Given the description of an element on the screen output the (x, y) to click on. 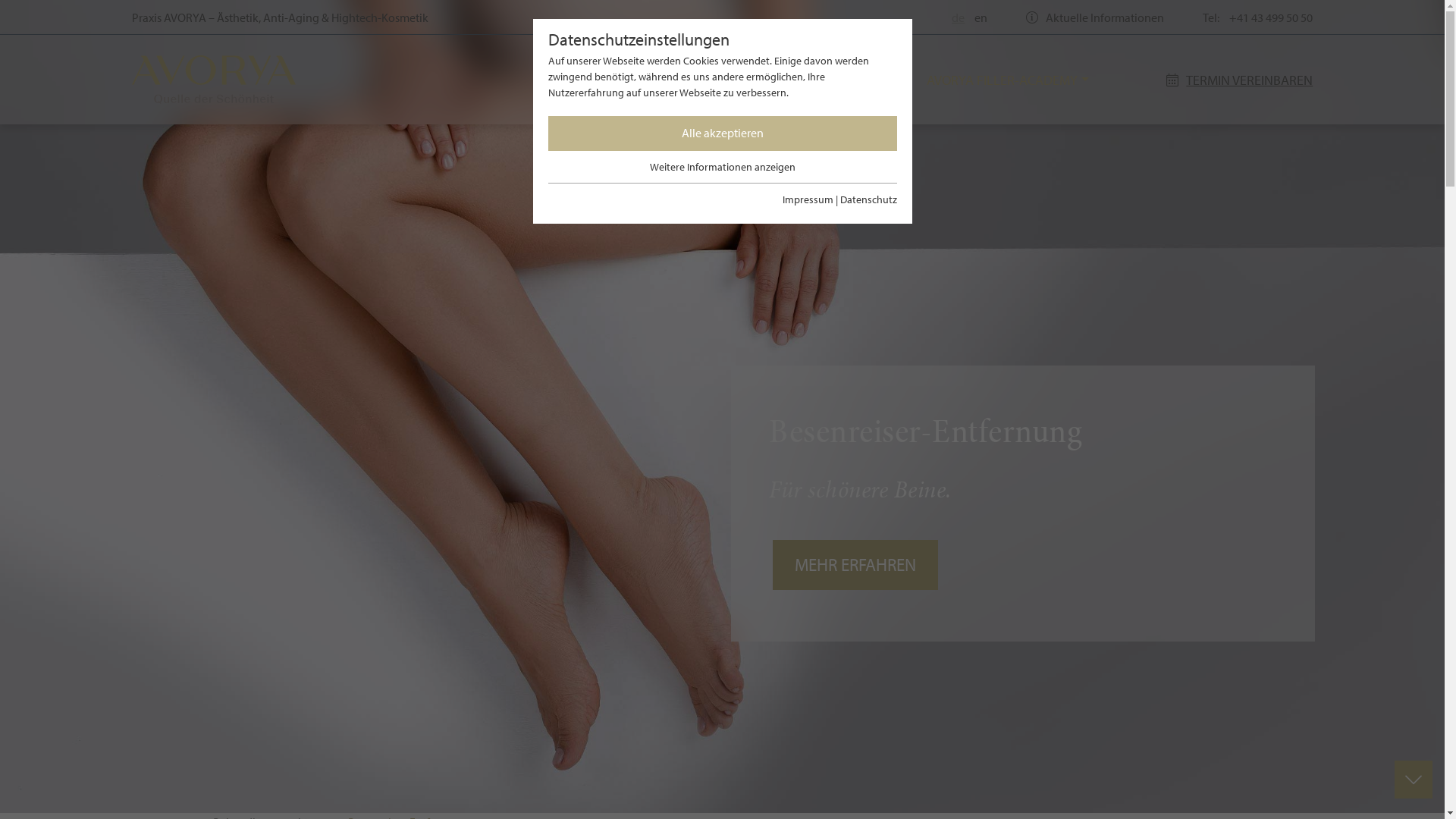
BEHANDLUNGSSPEKTRUM Element type: text (786, 79)
Datenschutz Element type: text (868, 199)
AVORYA FILLER-ACADEMY Element type: text (1007, 79)
en Element type: text (976, 17)
Aktuelle Informationen Element type: text (1094, 17)
Weitere Informationen anzeigen Element type: text (721, 166)
MEHR ERFAHREN Element type: text (855, 564)
de Element type: text (954, 17)
Alle akzeptieren Element type: text (721, 133)
TERMIN VEREINBAREN Element type: text (1233, 79)
PRAXIS Element type: text (620, 79)
Impressum Element type: text (807, 199)
+41 43 499 50 50 Element type: text (1266, 17)
